Given the description of an element on the screen output the (x, y) to click on. 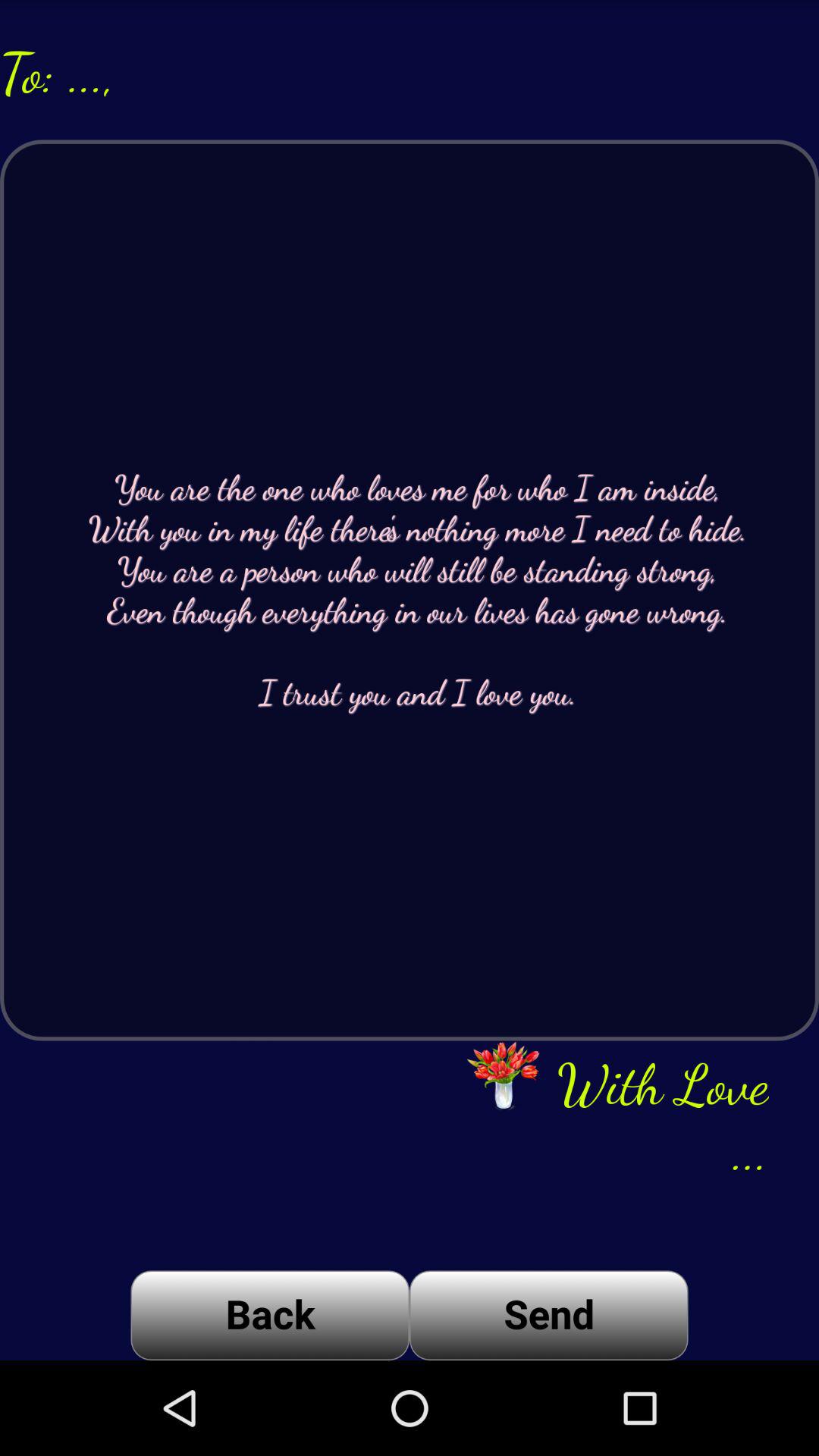
jump to the send (548, 1315)
